Given the description of an element on the screen output the (x, y) to click on. 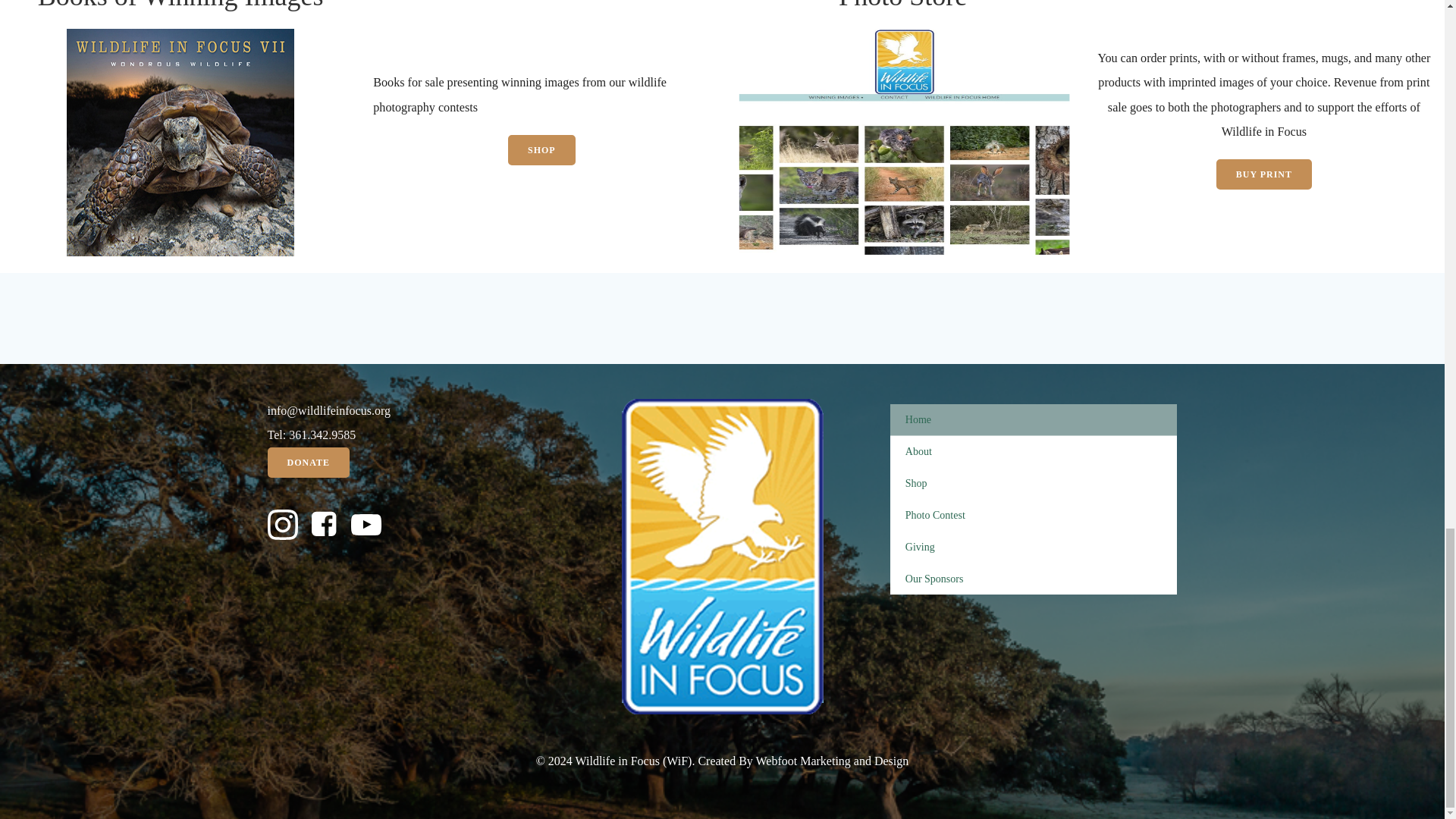
361. (299, 434)
SHOP (541, 150)
BUY PRINT (1263, 173)
DONATE (308, 462)
